Given the description of an element on the screen output the (x, y) to click on. 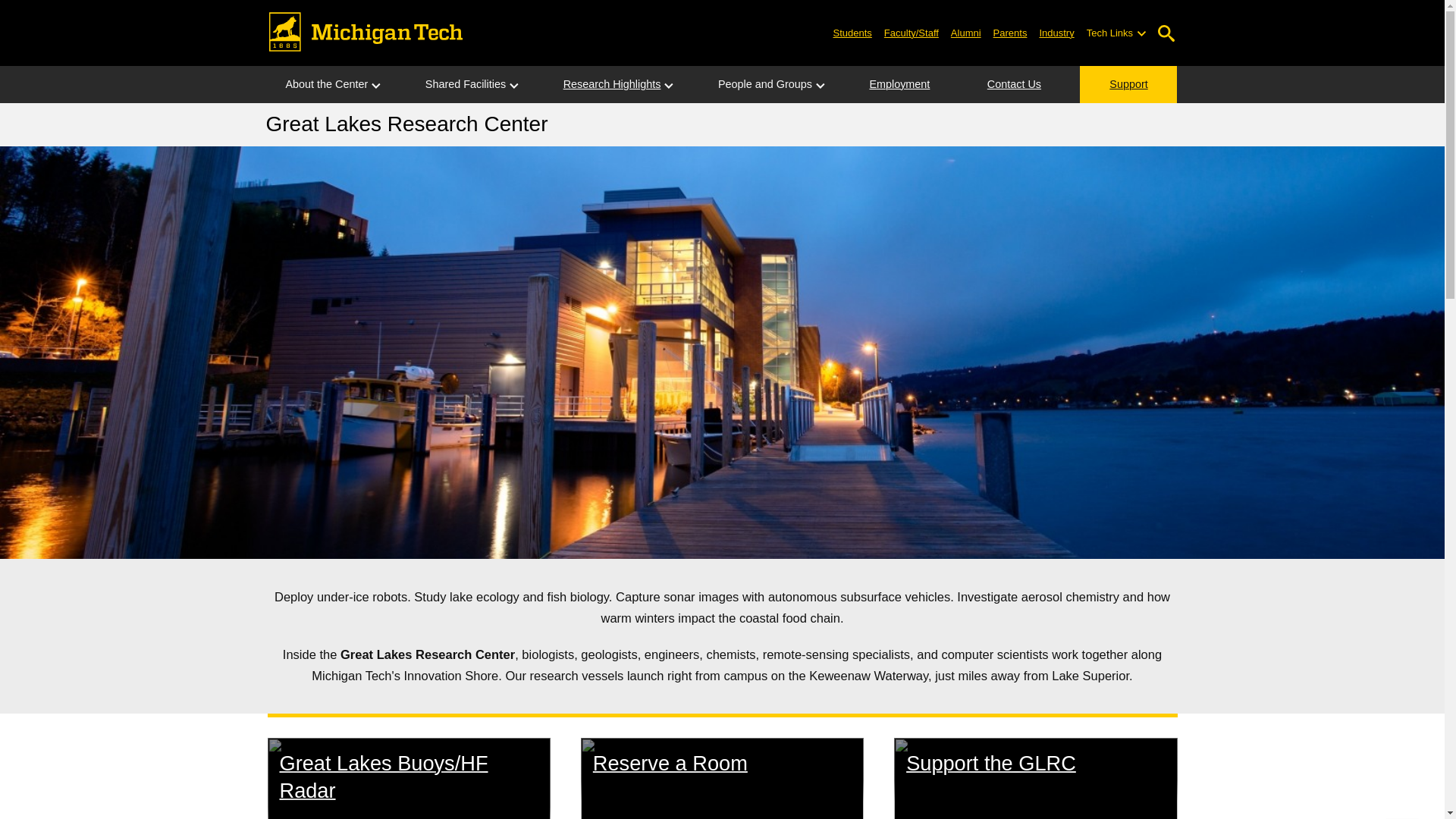
Alumni (965, 32)
Industry (1056, 32)
Students (852, 32)
Parents (1010, 32)
Research Highlights (611, 84)
Open Search (1166, 33)
